Given the description of an element on the screen output the (x, y) to click on. 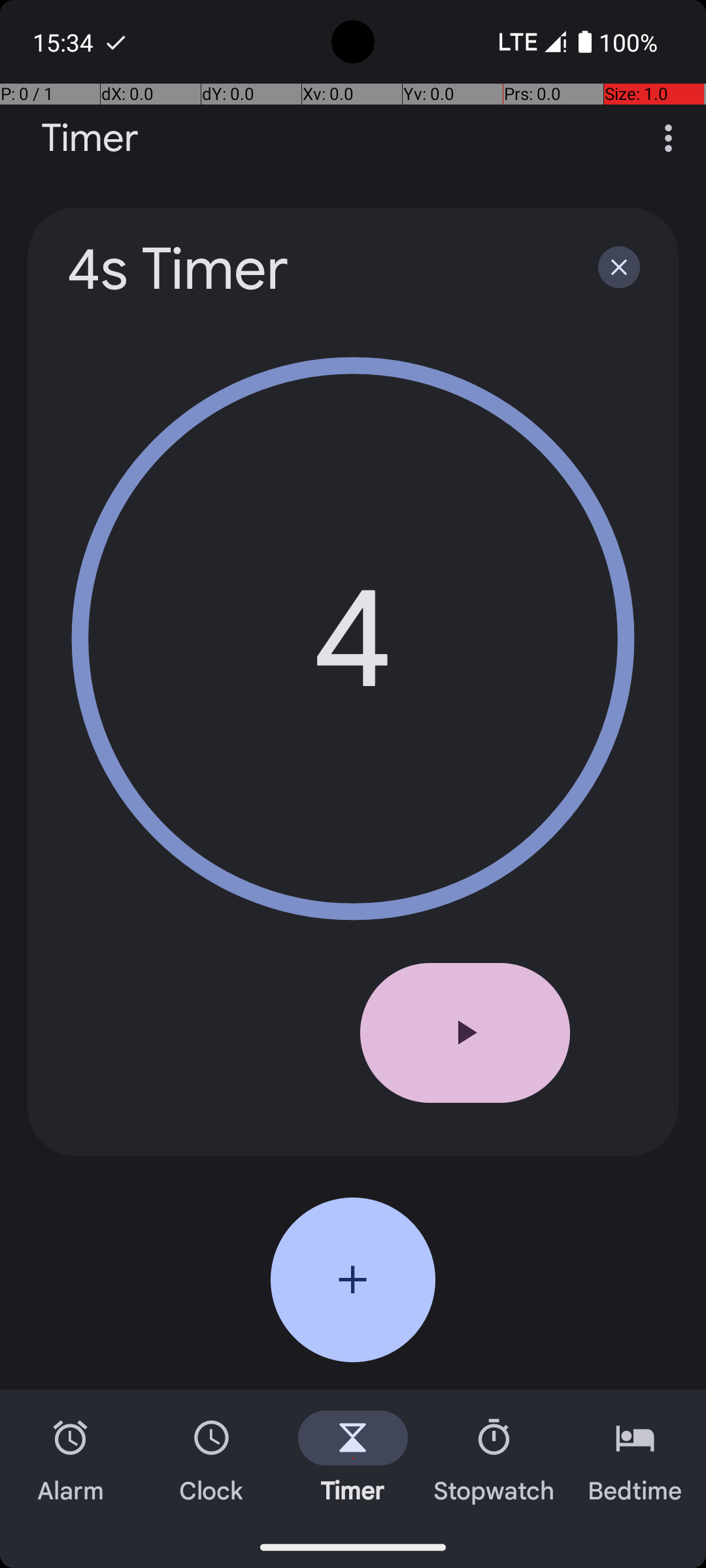
Add timer Element type: android.widget.Button (352, 1279)
4s Timer Element type: android.widget.TextView (315, 269)
Contacts notification: Finished exporting contacts.vcf. Element type: android.widget.ImageView (115, 41)
